Given the description of an element on the screen output the (x, y) to click on. 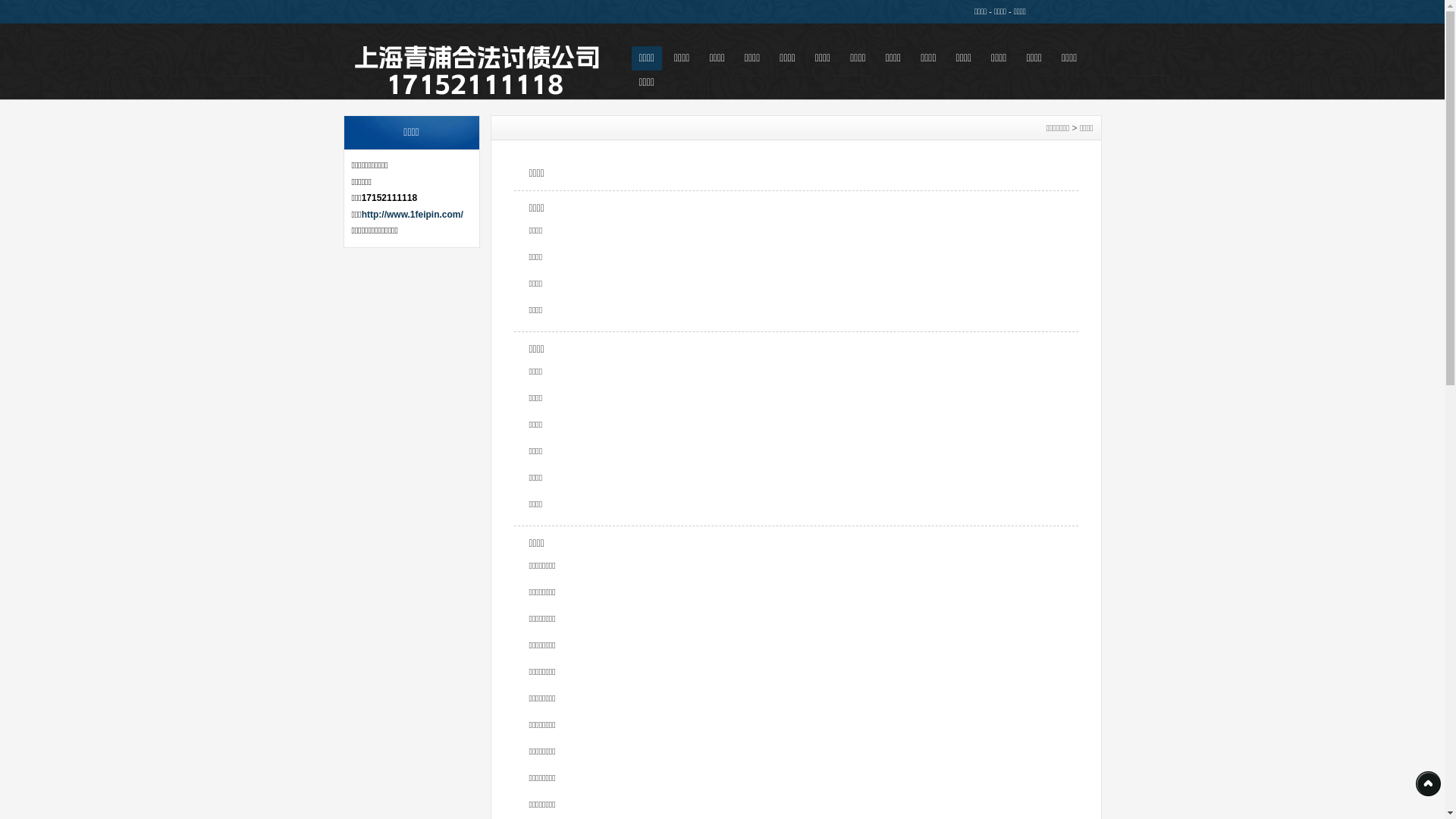
http://www.1feipin.com/ Element type: text (412, 214)
